Given the description of an element on the screen output the (x, y) to click on. 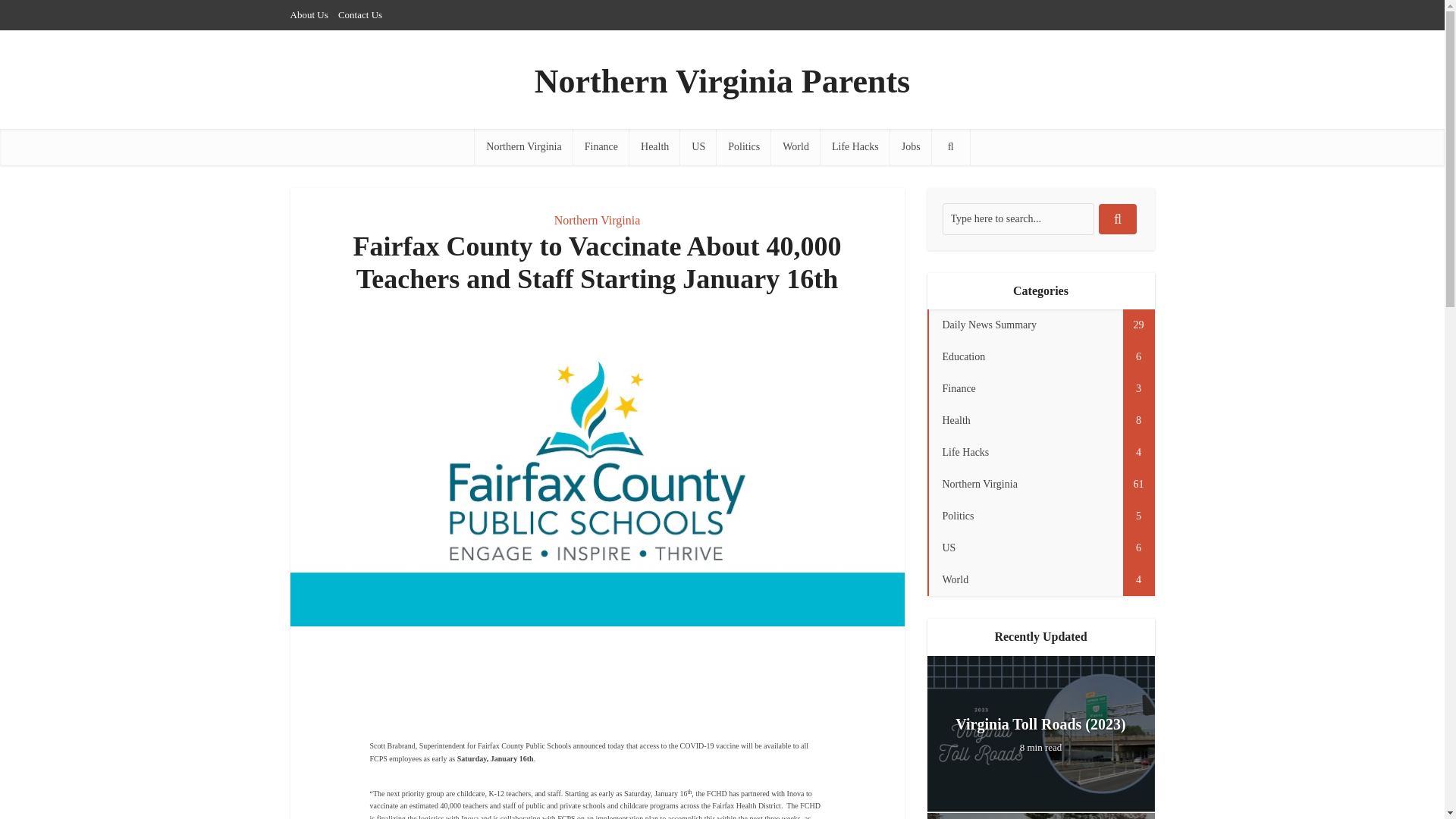
Health (653, 146)
Type here to search... (1017, 219)
World (796, 146)
Northern Virginia (523, 146)
Advertisement (597, 683)
US (697, 146)
About Us (308, 14)
Type here to search... (1017, 219)
Northern Virginia Parents (722, 81)
Jobs (910, 146)
Finance (600, 146)
Contact Us (359, 14)
Life Hacks (855, 146)
Politics (743, 146)
